Given the description of an element on the screen output the (x, y) to click on. 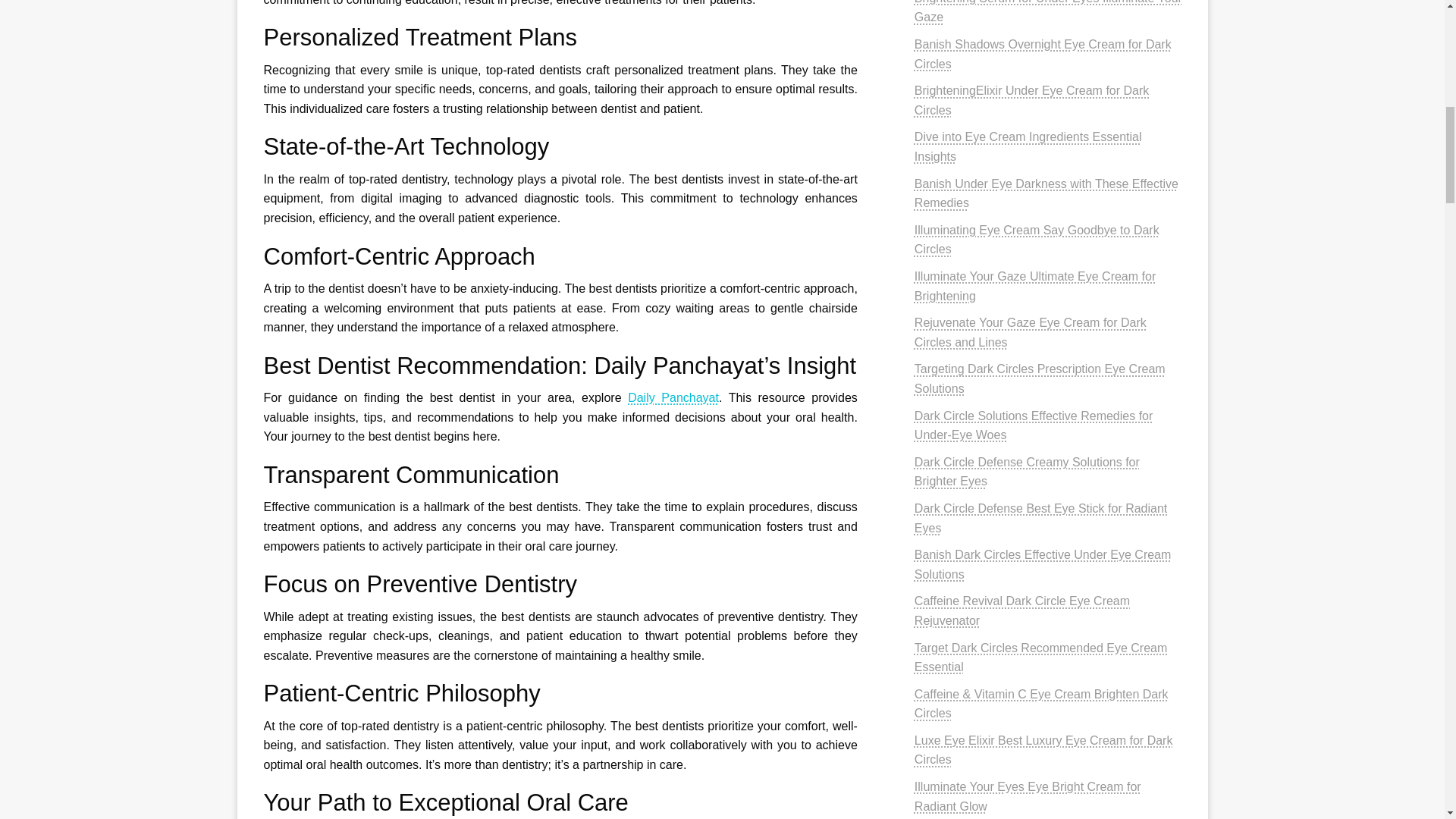
Daily Panchayat (673, 397)
